Given the description of an element on the screen output the (x, y) to click on. 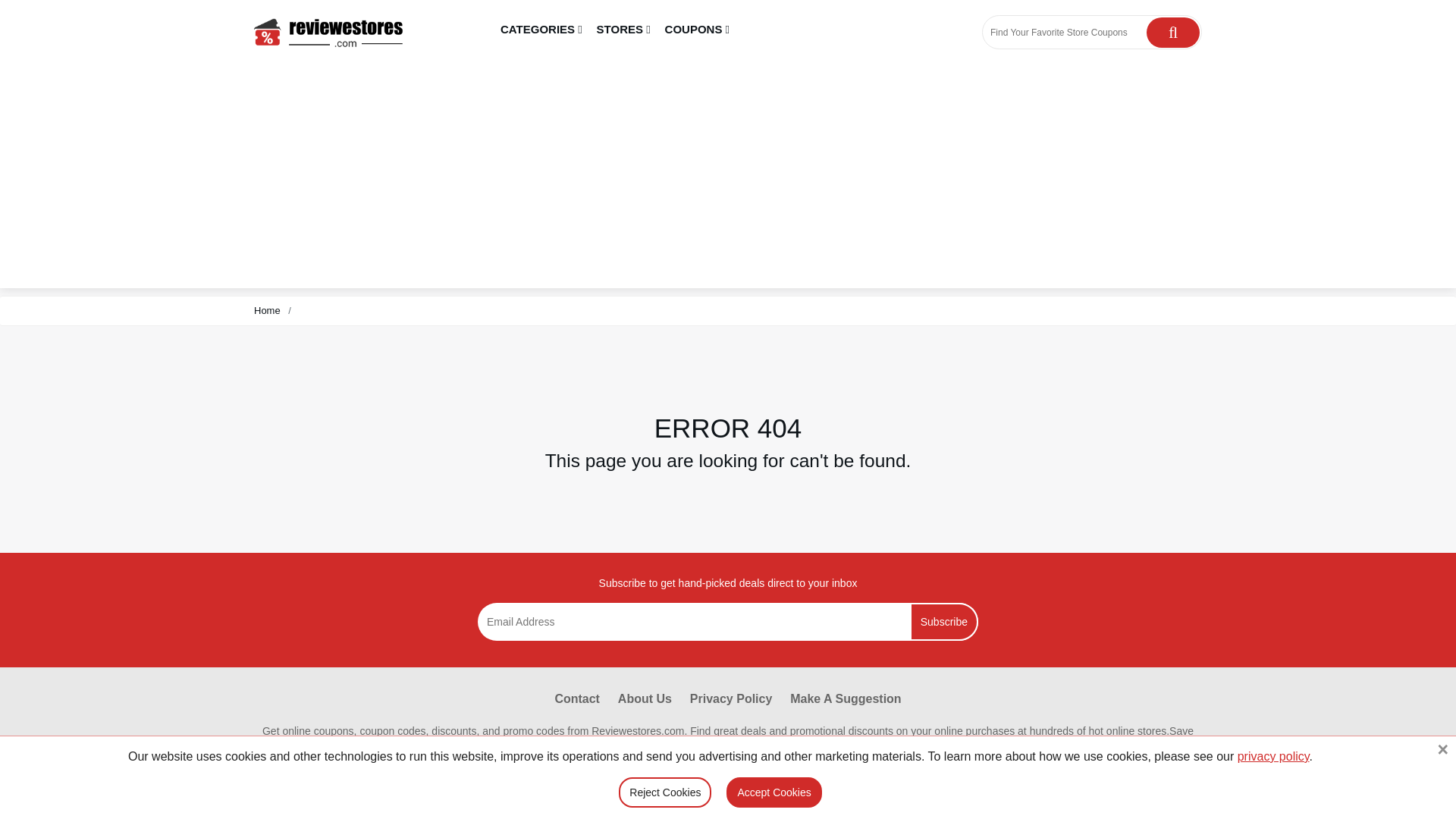
COUPONS (697, 29)
STORES (622, 29)
CATEGORIES (541, 29)
